Given the description of an element on the screen output the (x, y) to click on. 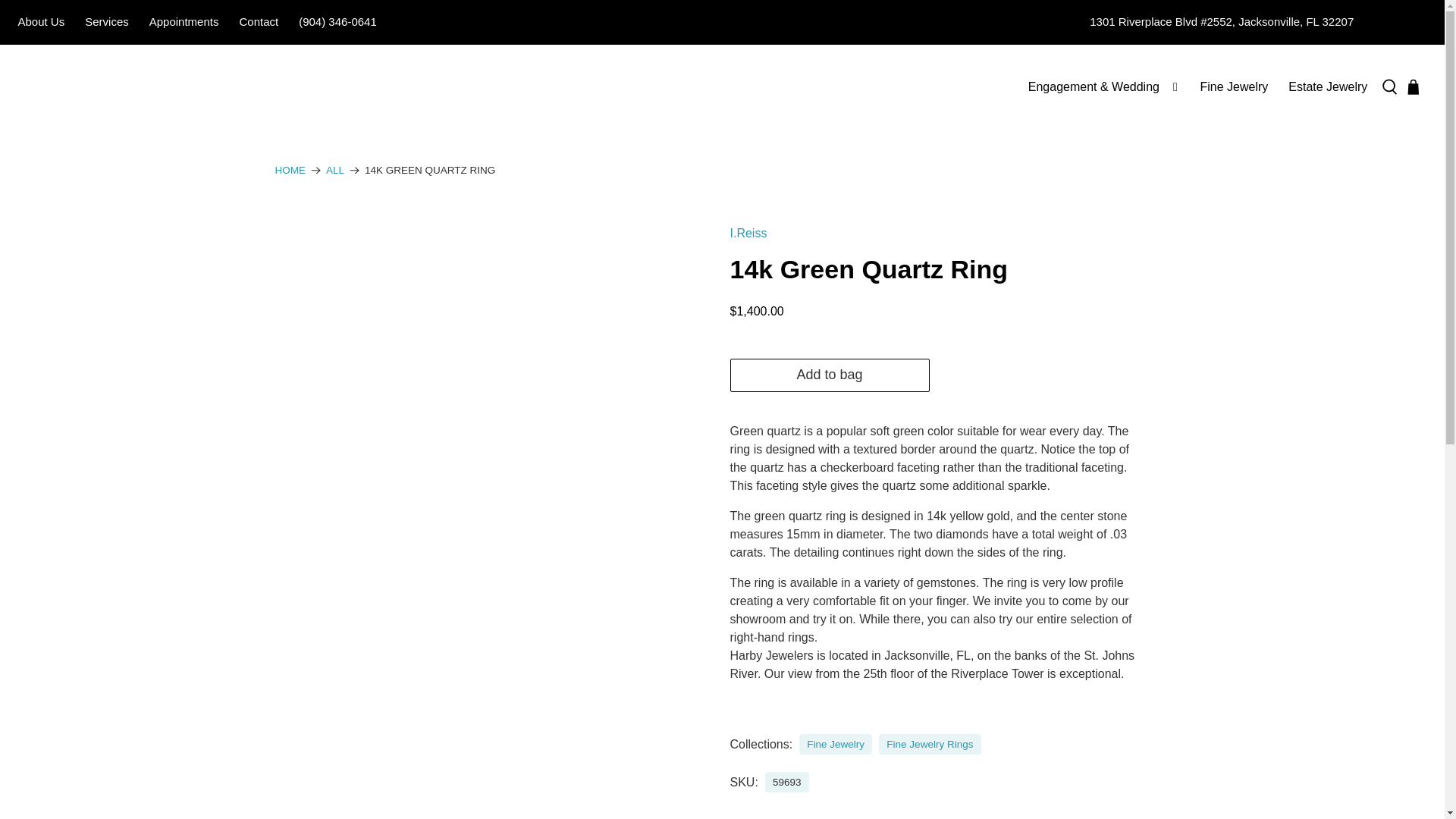
Fine Jewelry (835, 744)
Fine Jewelry (1233, 86)
About Us (41, 22)
Appointments (183, 22)
Estate Jewelry (1327, 86)
Harby Jewelers of Jacksonville (104, 86)
Contact (258, 22)
Harby Jewelers of Jacksonville (290, 170)
I.Reiss (748, 232)
Fine Jewelry Rings (929, 744)
